Given the description of an element on the screen output the (x, y) to click on. 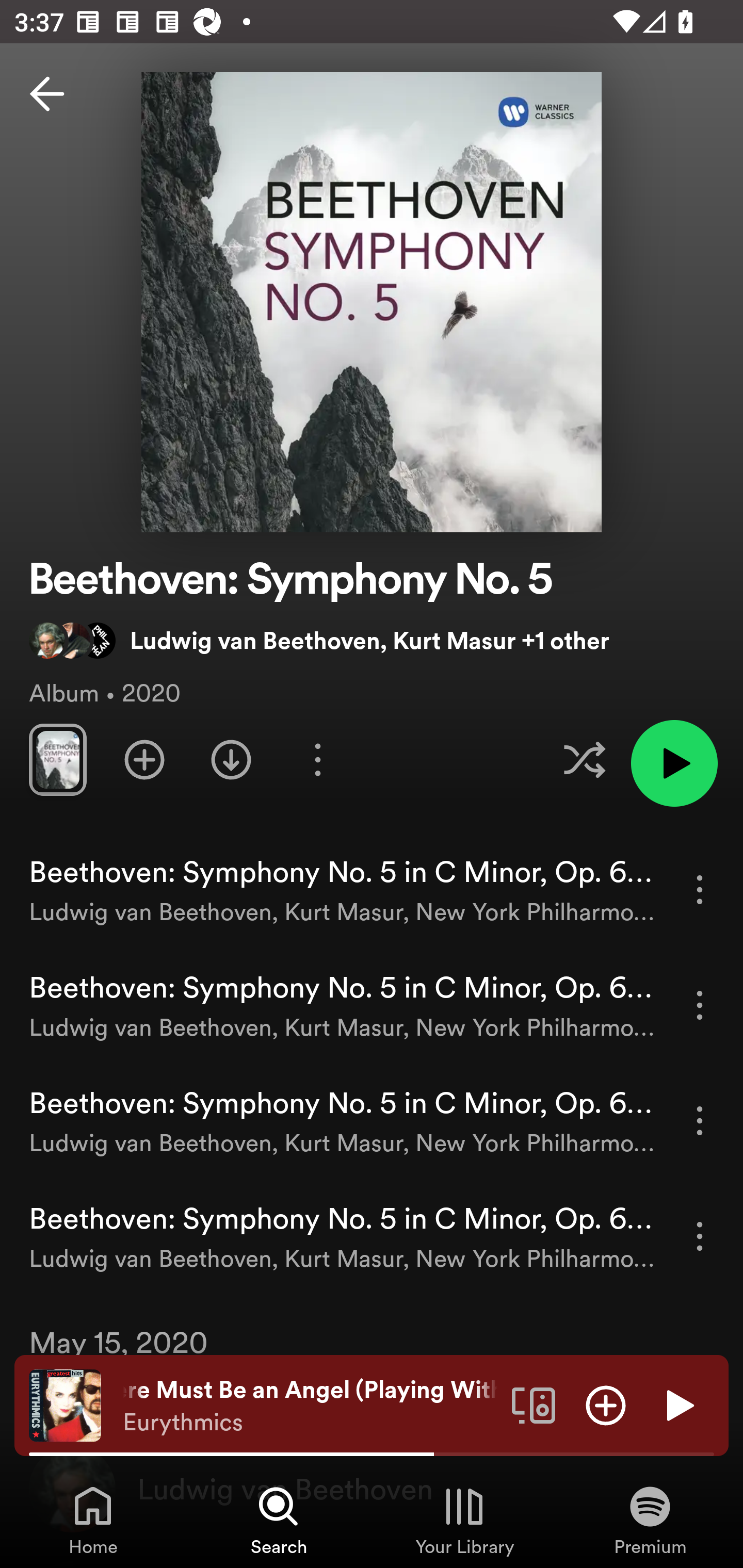
Back (46, 93)
Ludwig van Beethoven, Kurt Masur +1 other (319, 640)
Swipe through previews of tracks from this album. (57, 759)
Add playlist to Your Library (144, 759)
Download (230, 759)
Enable shuffle for this playlist (583, 759)
Play playlist (674, 763)
The cover art of the currently playing track (64, 1404)
Connect to a device. Opens the devices menu (533, 1404)
Add item (605, 1404)
Play (677, 1404)
Home, Tab 1 of 4 Home Home (92, 1519)
Search, Tab 2 of 4 Search Search (278, 1519)
Your Library, Tab 3 of 4 Your Library Your Library (464, 1519)
Premium, Tab 4 of 4 Premium Premium (650, 1519)
